Given the description of an element on the screen output the (x, y) to click on. 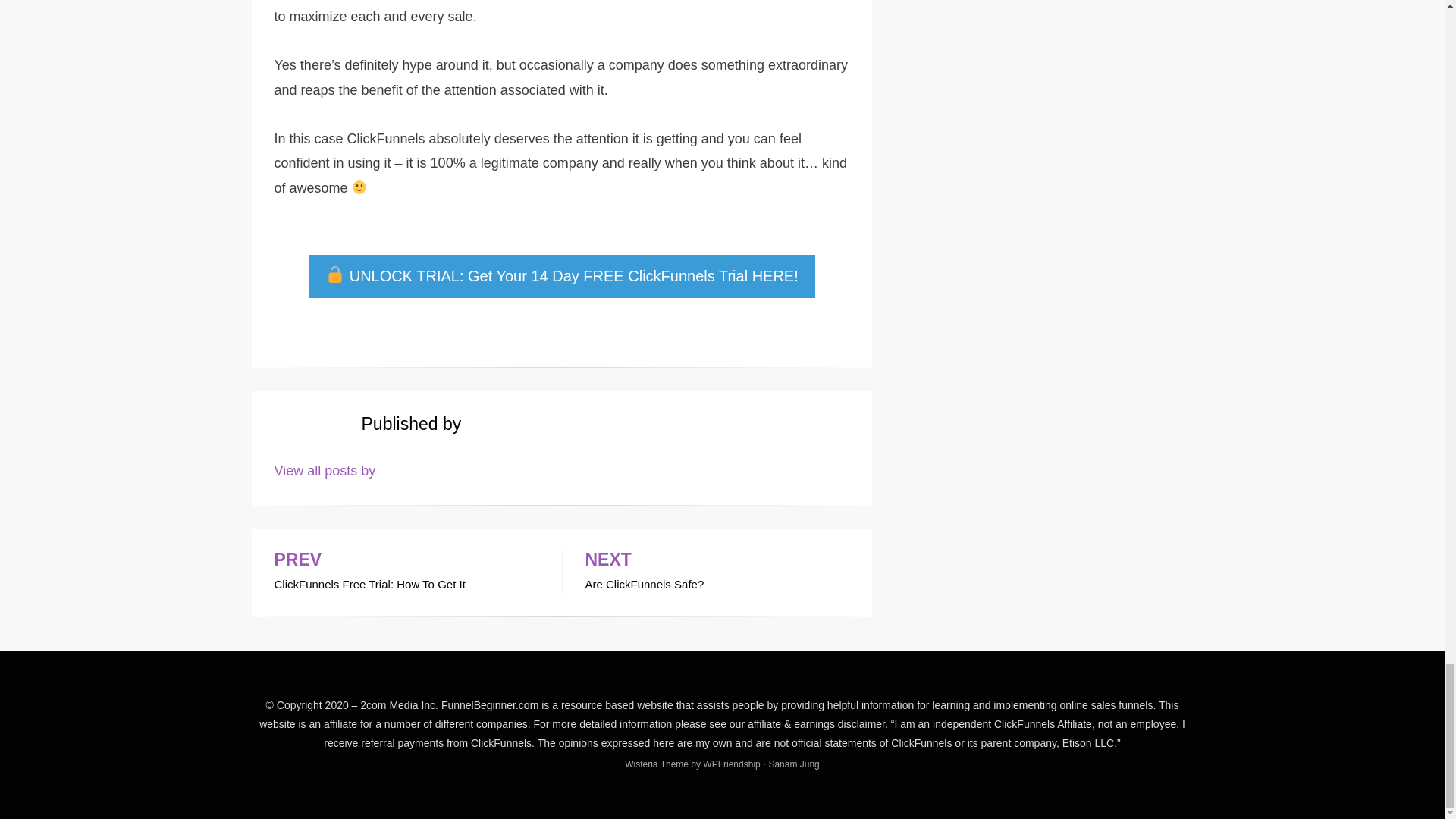
UNLOCK TRIAL: Get Your 14 Day FREE ClickFunnels Trial HERE! (560, 276)
Sanam Jung (793, 764)
View all posts by (406, 572)
WPFriendship (325, 470)
WPFriendship (716, 572)
